Given the description of an element on the screen output the (x, y) to click on. 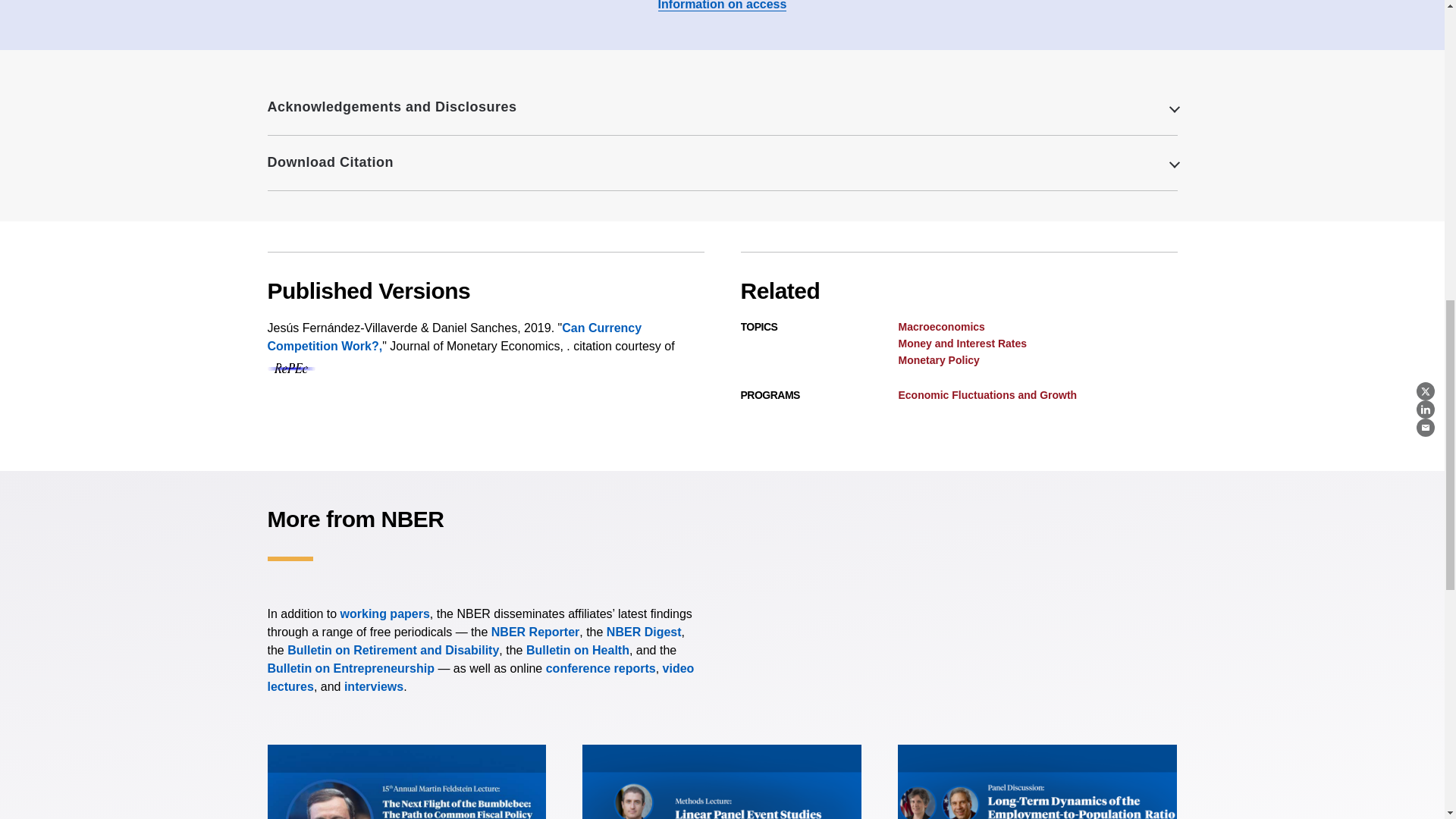
Working Papers (384, 613)
Research Spotlights (373, 686)
Conferences (601, 667)
Lectures (480, 676)
